Given the description of an element on the screen output the (x, y) to click on. 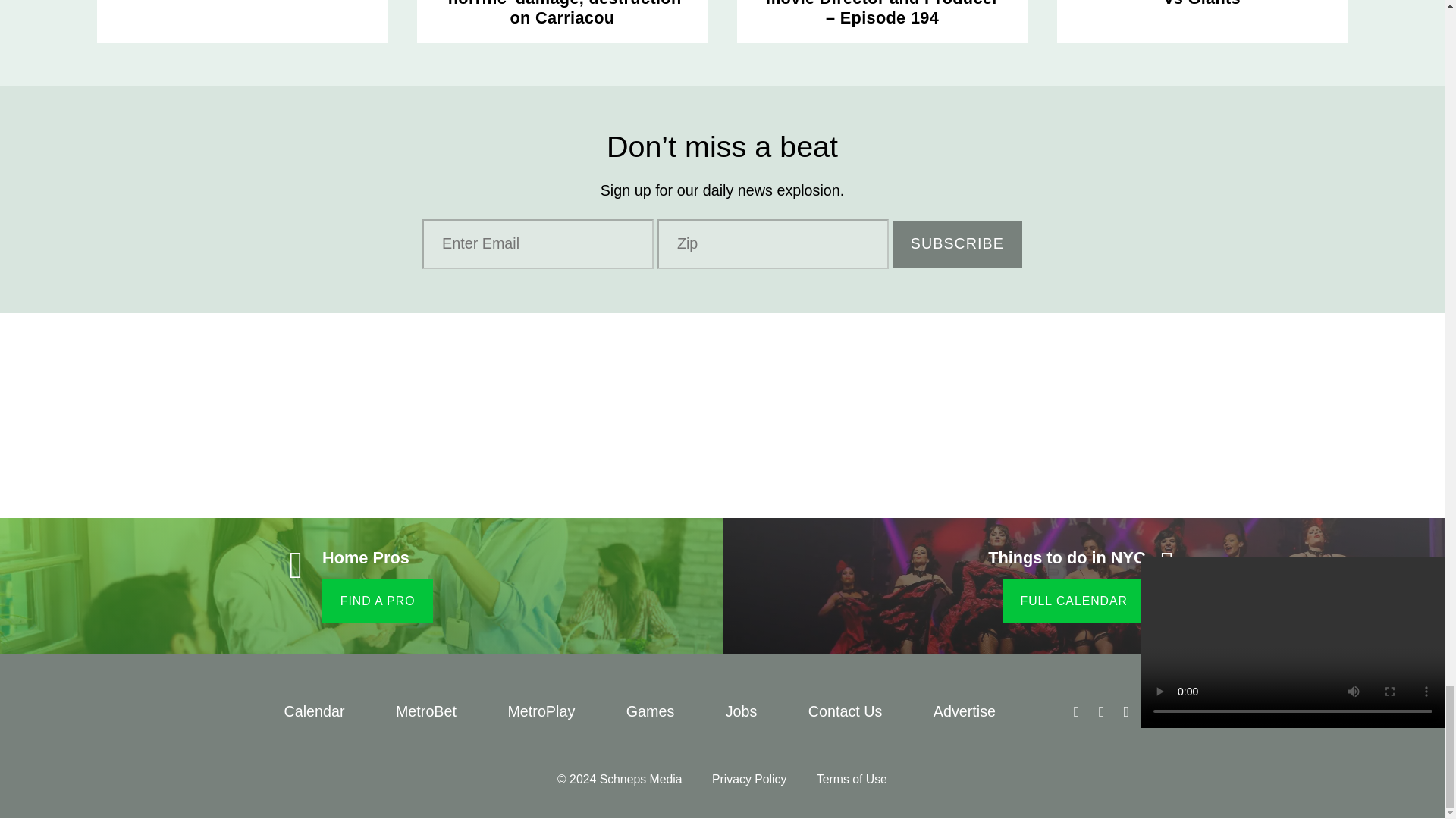
Subscribe (957, 244)
